Given the description of an element on the screen output the (x, y) to click on. 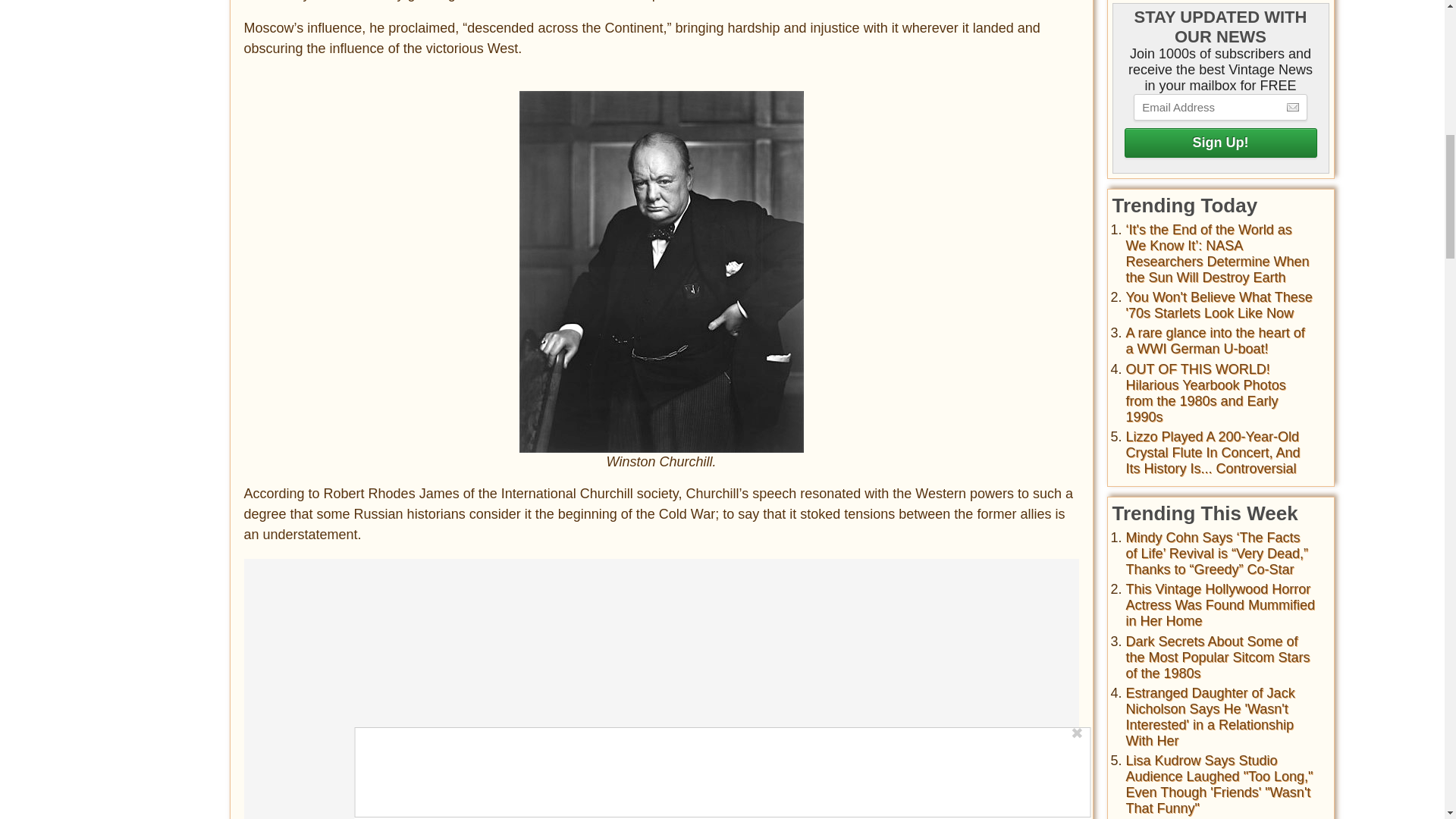
Sign Up! (1220, 142)
